Given the description of an element on the screen output the (x, y) to click on. 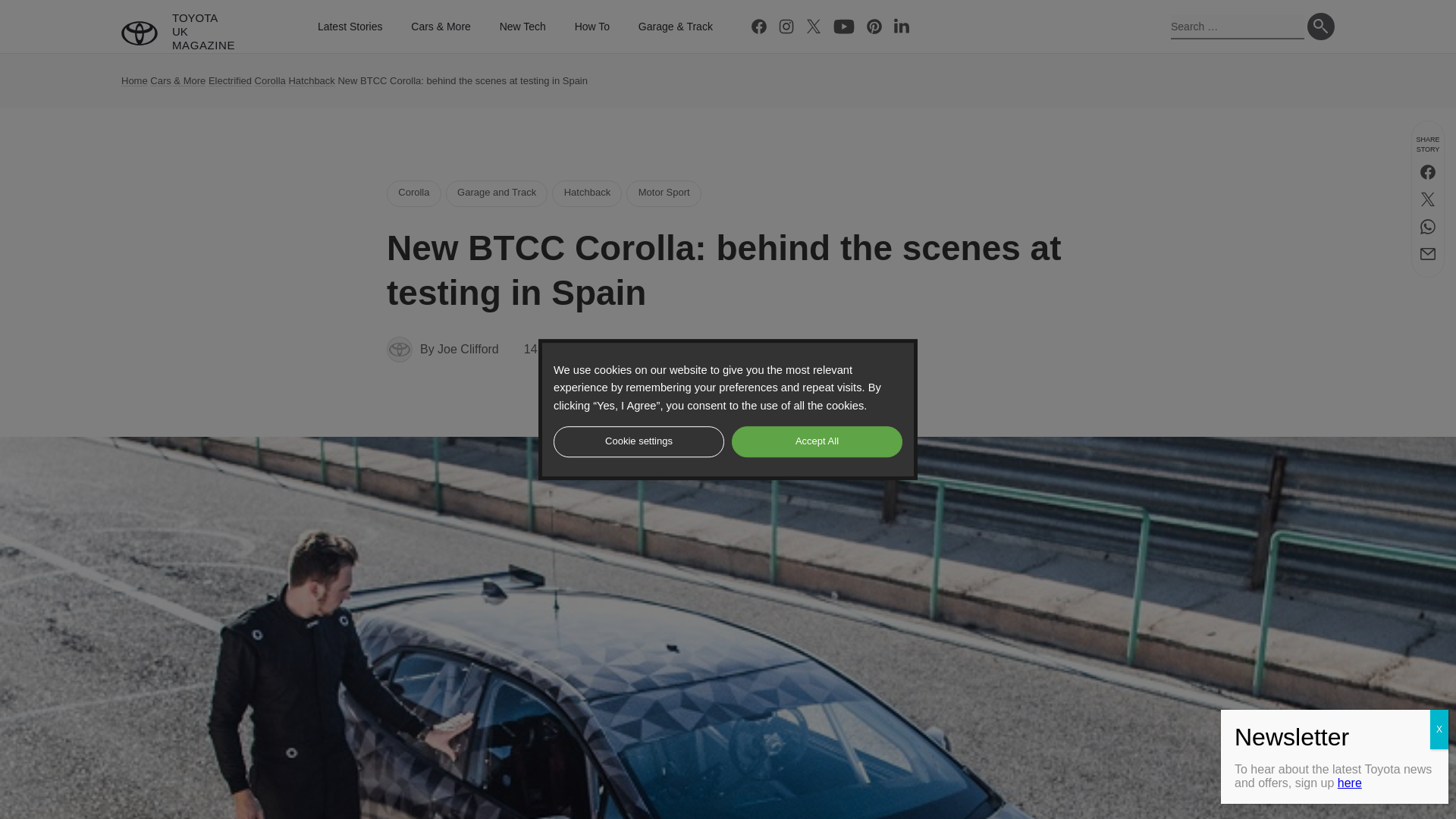
Facebook (759, 26)
TOYOTA UK MAGAZINE (178, 33)
By Joe Clifford (442, 349)
Search (1321, 26)
Garage and Track (496, 193)
Click to share on WhatsApp (1427, 226)
How To (592, 27)
LinkedIn (901, 26)
Click to share on Facebook (1427, 171)
Click to email this to a friend (1427, 253)
